Given the description of an element on the screen output the (x, y) to click on. 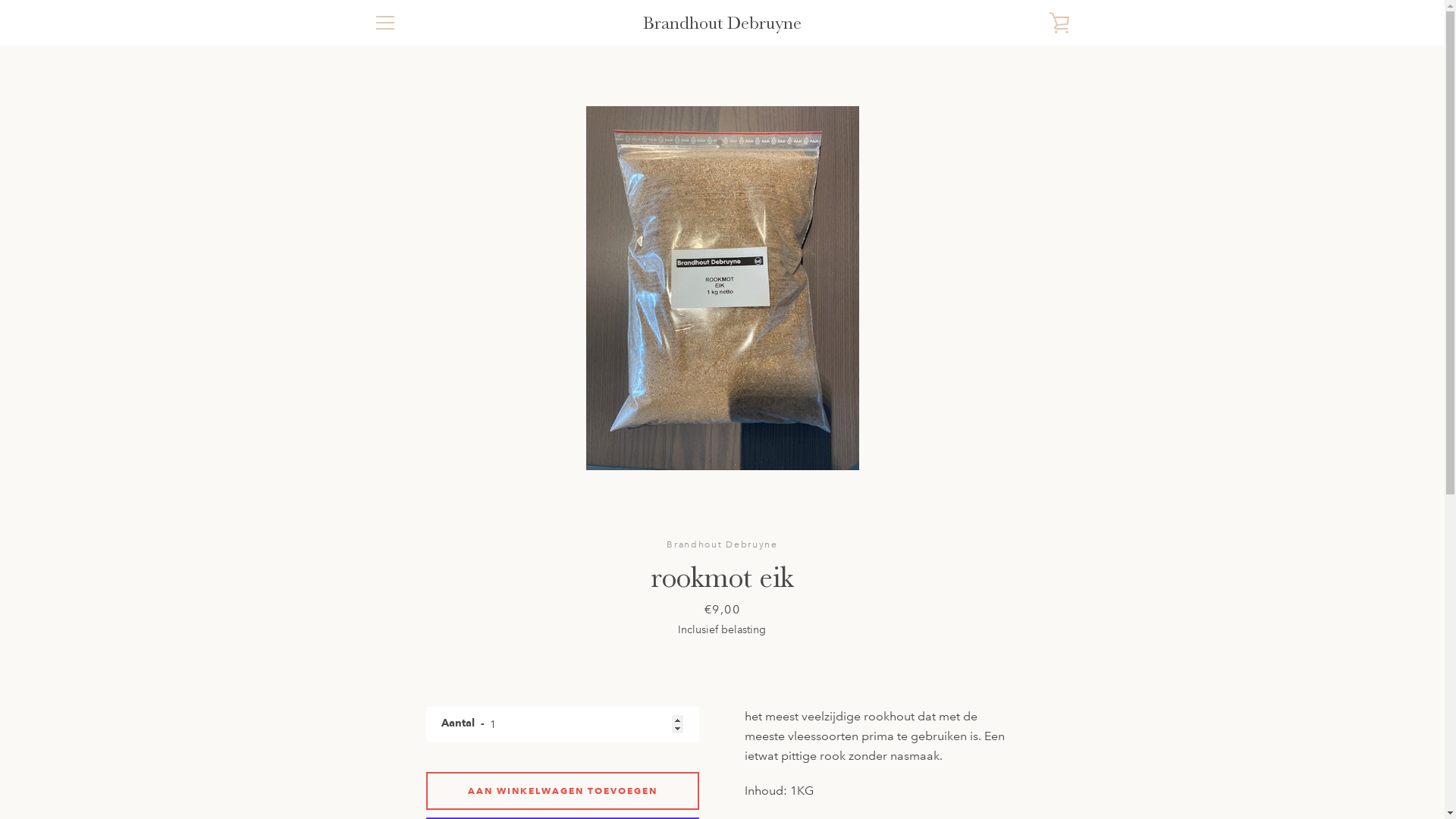
MENU Element type: text (384, 22)
ABONNEREN Element type: text (1027, 679)
Brandhout Debruyne Element type: text (777, 756)
AAN WINKELWAGEN TOEVOEGEN Element type: text (562, 790)
ALGEMENE VOORWAARDEN Element type: text (443, 615)
Meteen naar de content Element type: text (0, 0)
PRIVACY Element type: text (395, 637)
Brandhout Debruyne Element type: text (722, 23)
ZOEKEN Element type: text (394, 593)
WINKELWAGEN BEKIJKEN Element type: text (1059, 22)
